Given the description of an element on the screen output the (x, y) to click on. 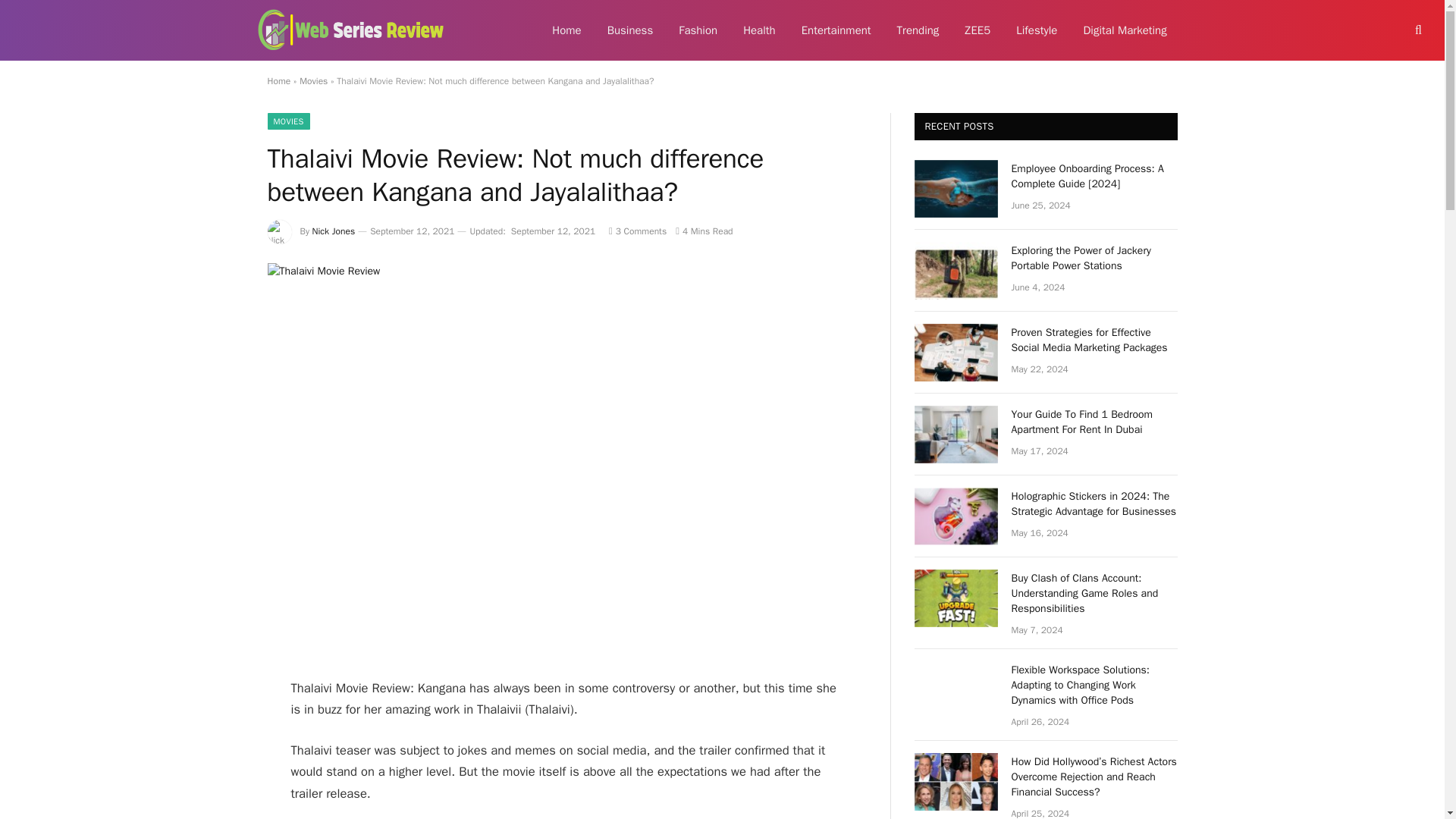
Health (759, 30)
Business (630, 30)
Web Series Review (350, 30)
Movies (313, 80)
Digital Marketing (1124, 30)
Exploring the Power of Jackery Portable Power Stations (1094, 258)
Home (566, 30)
Nick Jones (334, 231)
Home (277, 80)
Fashion (697, 30)
Entertainment (836, 30)
MOVIES (287, 121)
